Given the description of an element on the screen output the (x, y) to click on. 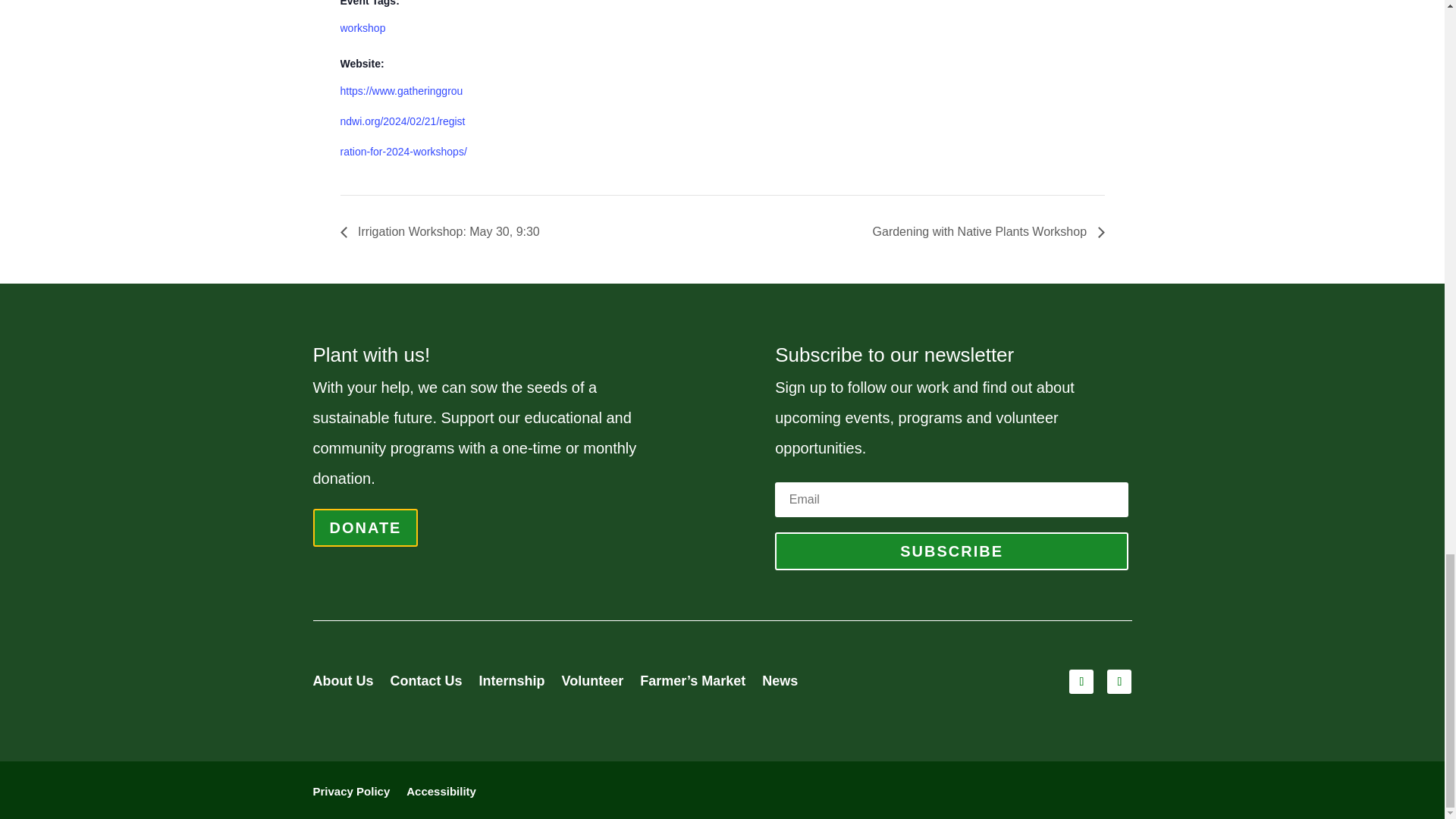
DONATE (365, 527)
About Us (342, 683)
Gardening with Native Plants Workshop (984, 231)
Follow on Facebook (1080, 681)
Volunteer (593, 683)
Irrigation Workshop: May 30, 9:30 (443, 231)
Internship (511, 683)
Follow on Instagram (1118, 681)
News (779, 683)
Contact Us (425, 683)
